Given the description of an element on the screen output the (x, y) to click on. 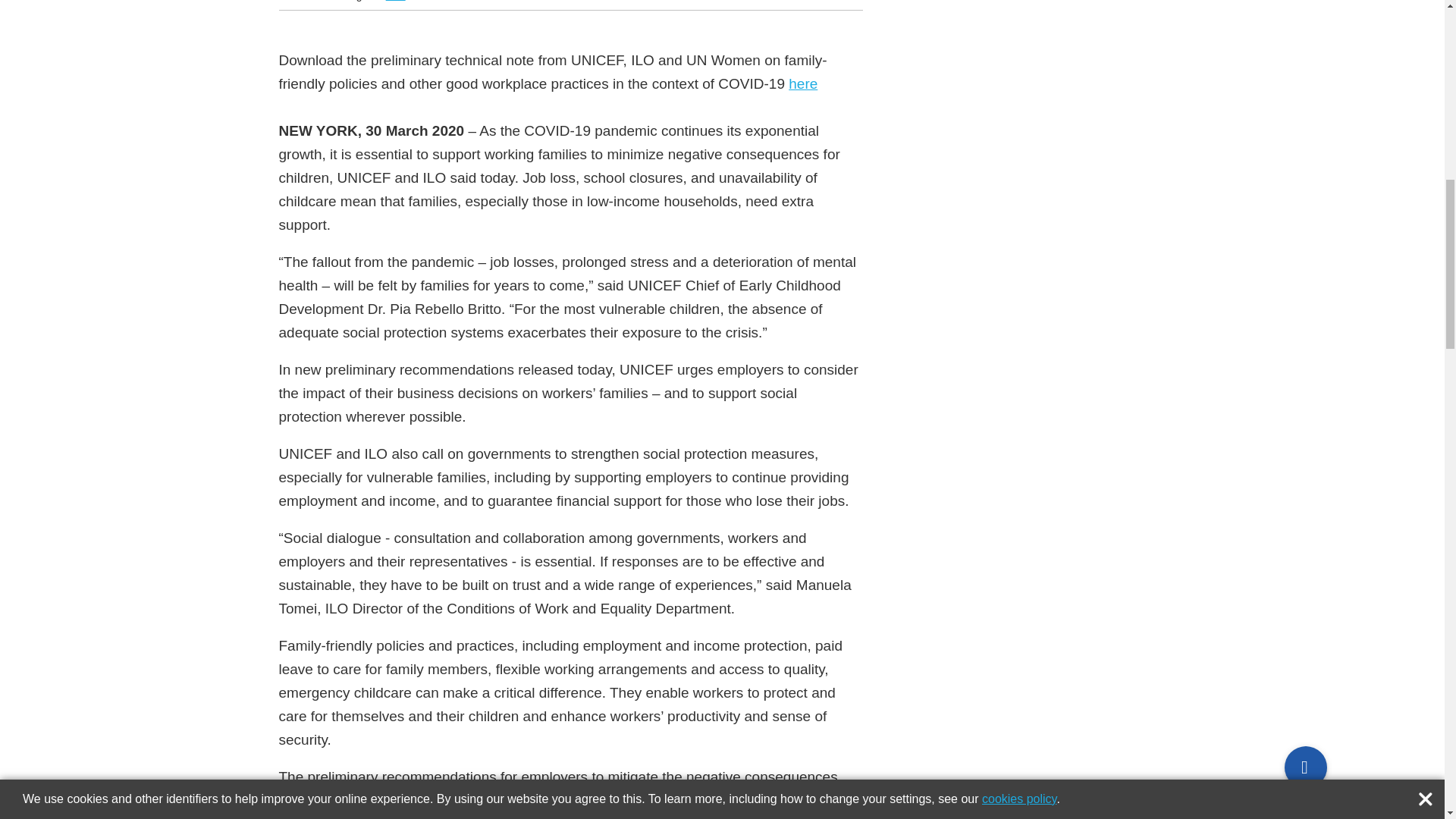
here (802, 83)
